Given the description of an element on the screen output the (x, y) to click on. 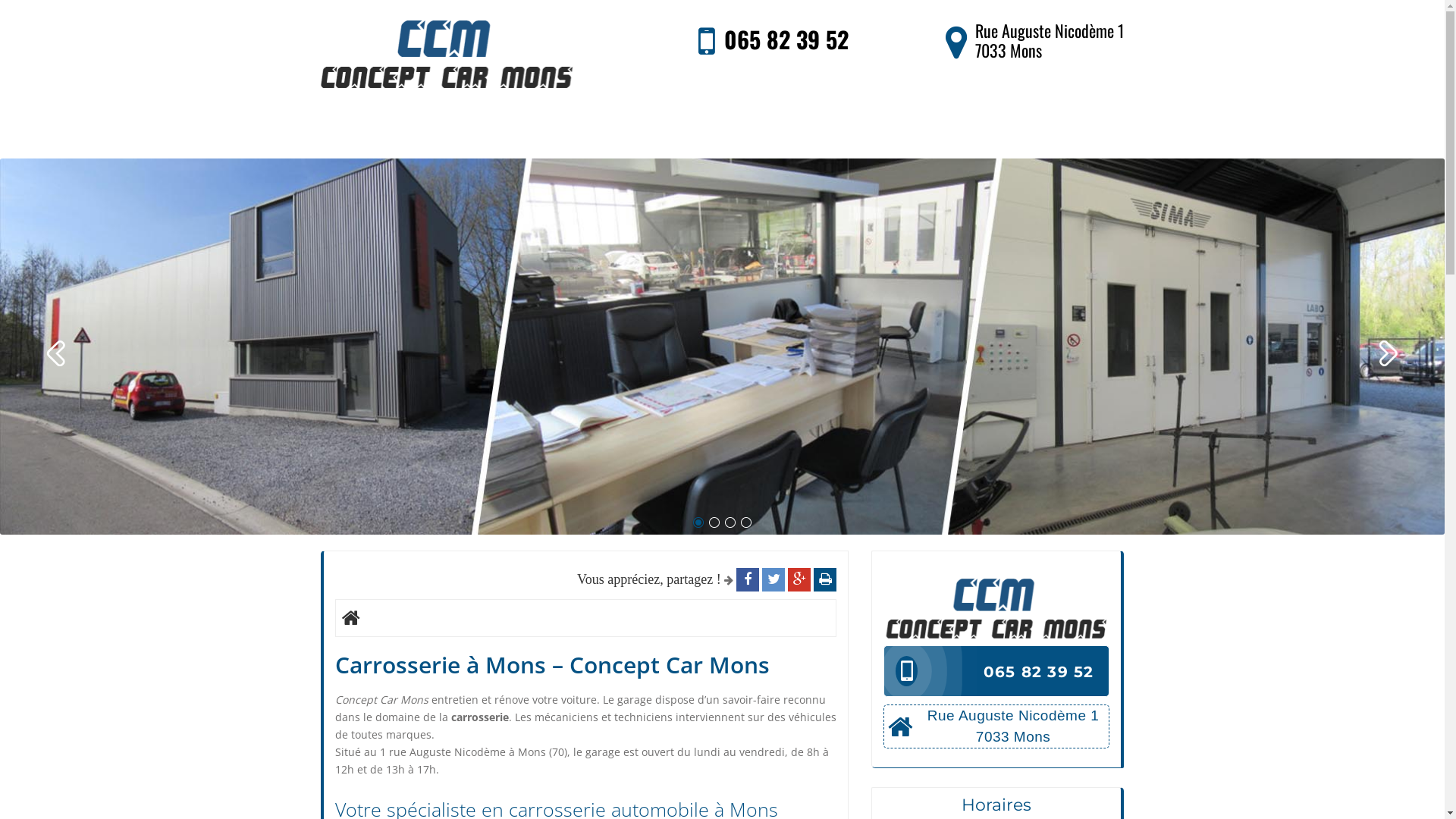
065 82 39 52 Element type: text (996, 670)
ACCUEIL Element type: text (391, 132)
Imprimer la carte de visite Element type: hover (824, 578)
Partager sur Twitter Element type: hover (773, 578)
CARROSSERIE Element type: text (549, 132)
CARROSSERIE JAGUAR - LAND ROVER Element type: text (808, 132)
2 Element type: text (714, 522)
4 Element type: text (745, 522)
Partager sur Google + Element type: hover (798, 578)
Next Element type: text (1386, 355)
Concept Car Mons Element type: hover (446, 53)
1 Element type: text (698, 522)
CONTACT Element type: text (1050, 132)
3 Element type: text (729, 522)
065 82 39 52 Element type: text (786, 38)
065 82 39 52 Element type: text (1038, 671)
Previous Element type: text (57, 355)
Partager sur Facebook Element type: hover (747, 578)
